Given the description of an element on the screen output the (x, y) to click on. 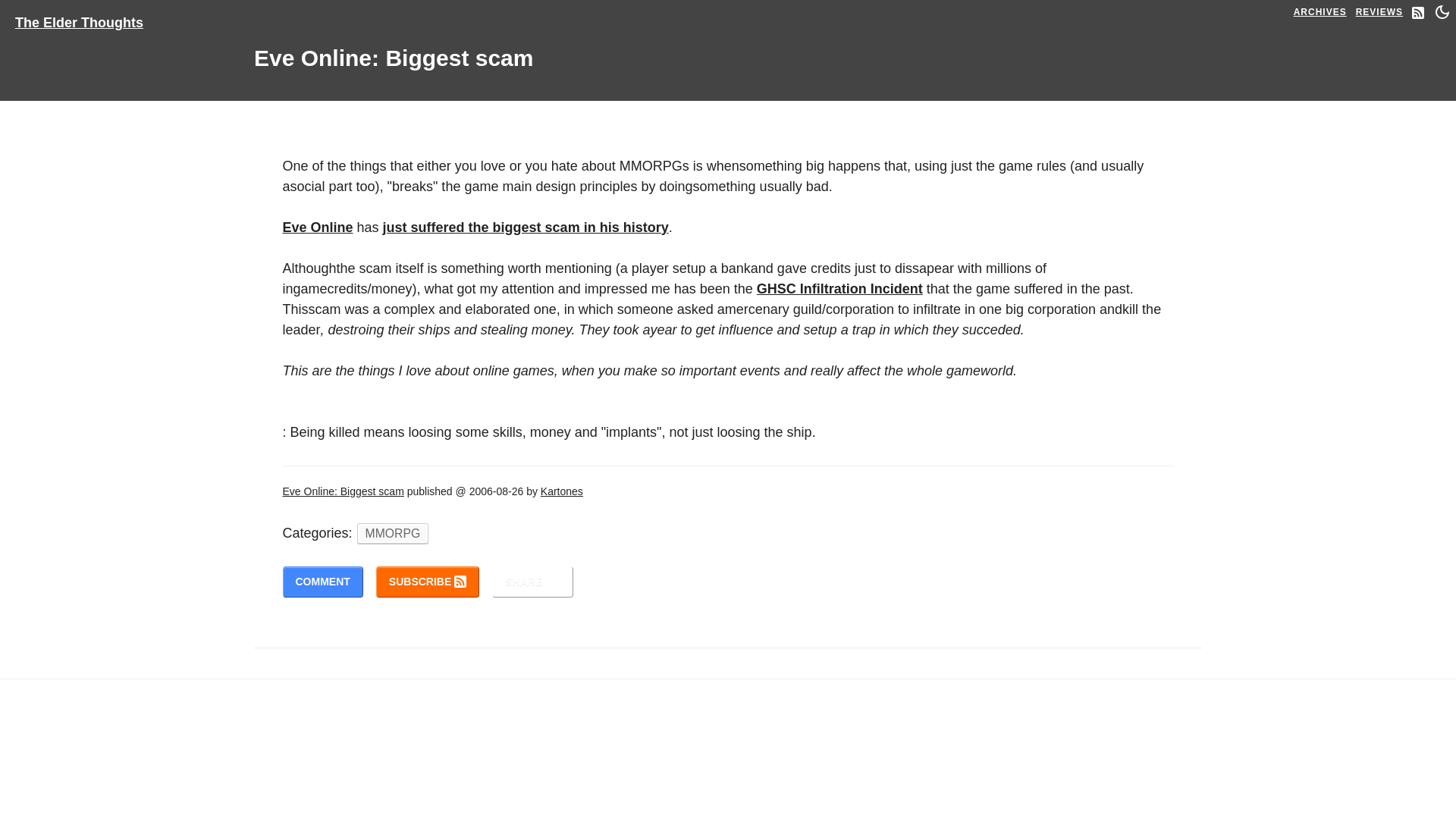
ARCHIVES (1319, 12)
Kartones (561, 491)
SHARE (532, 581)
The Elder Thoughts (84, 18)
SUBSCRIBE (427, 581)
Eve Online: Biggest scam (342, 491)
Share at Twitter (532, 581)
REVIEWS (1379, 12)
Subscribe to RSS (427, 581)
The Elder Thoughts (79, 18)
